Given the description of an element on the screen output the (x, y) to click on. 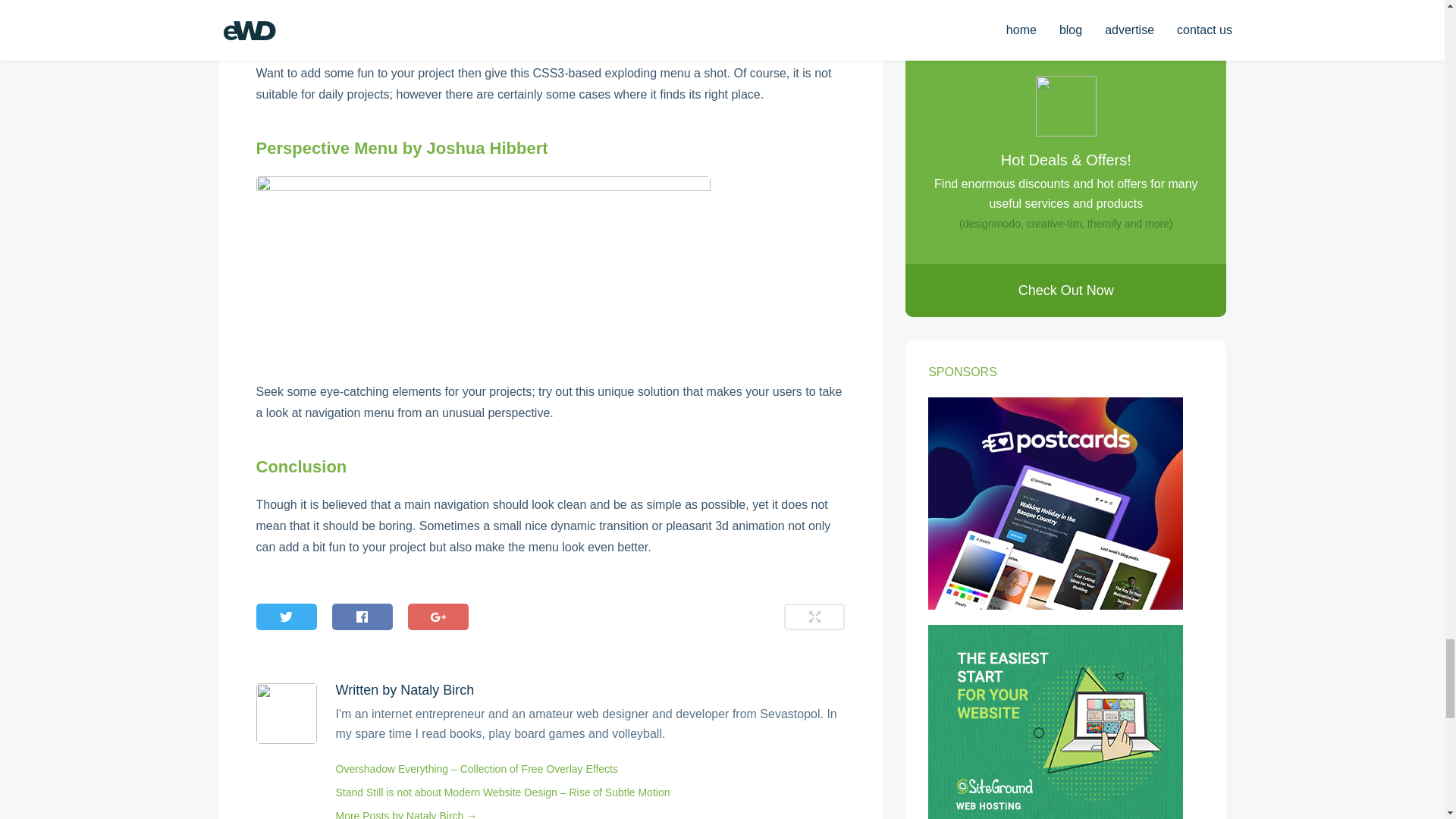
Posts by Nataly Birch (437, 689)
Nataly Birch (437, 689)
Full Screen (814, 616)
